Given the description of an element on the screen output the (x, y) to click on. 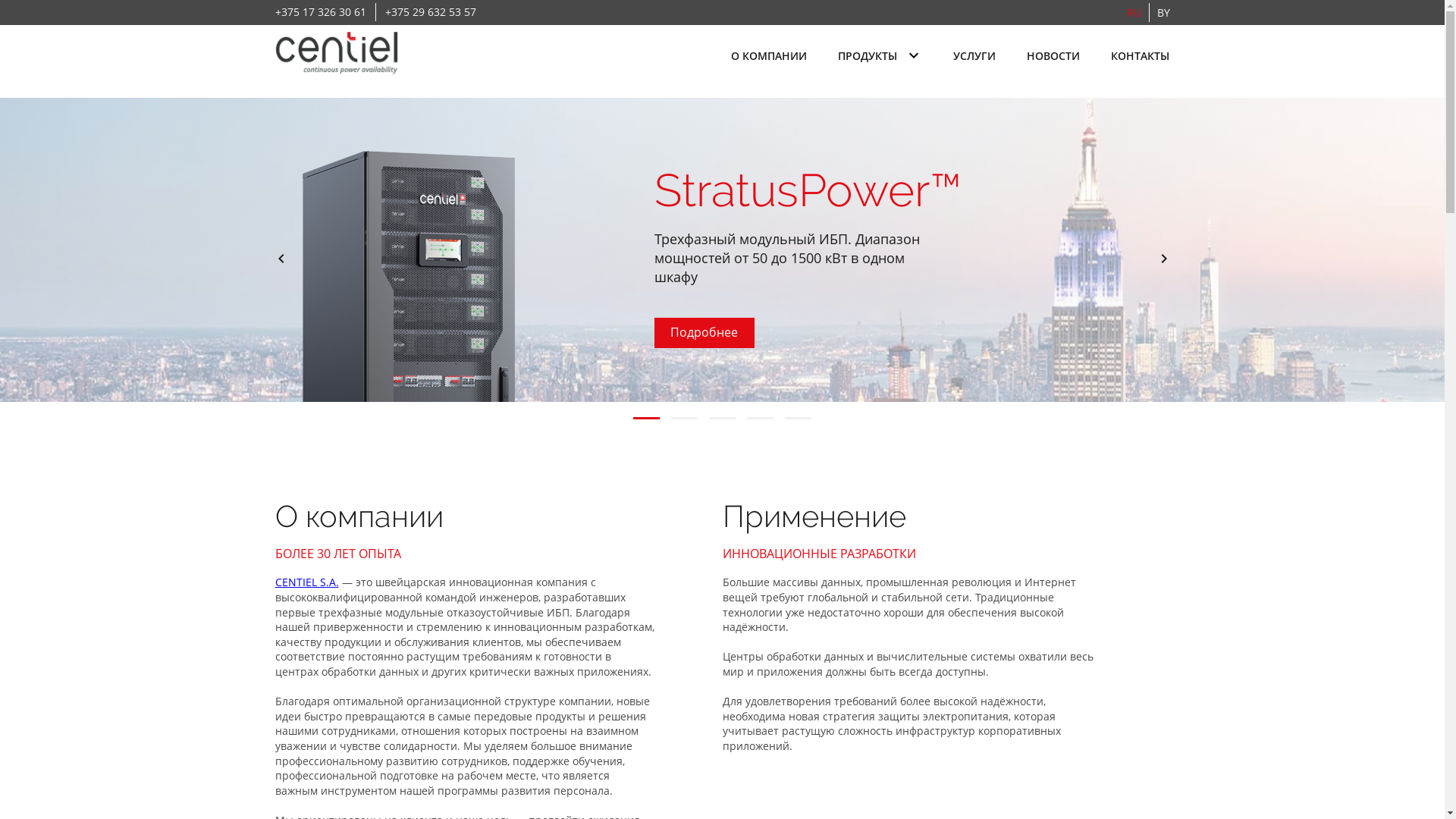
+375 29 632 53 57 Element type: text (430, 12)
BY Element type: text (1163, 12)
+375 17 326 30 61 Element type: text (319, 12)
RU Element type: text (1133, 12)
CENTIEL S.A. Element type: text (306, 581)
